Given the description of an element on the screen output the (x, y) to click on. 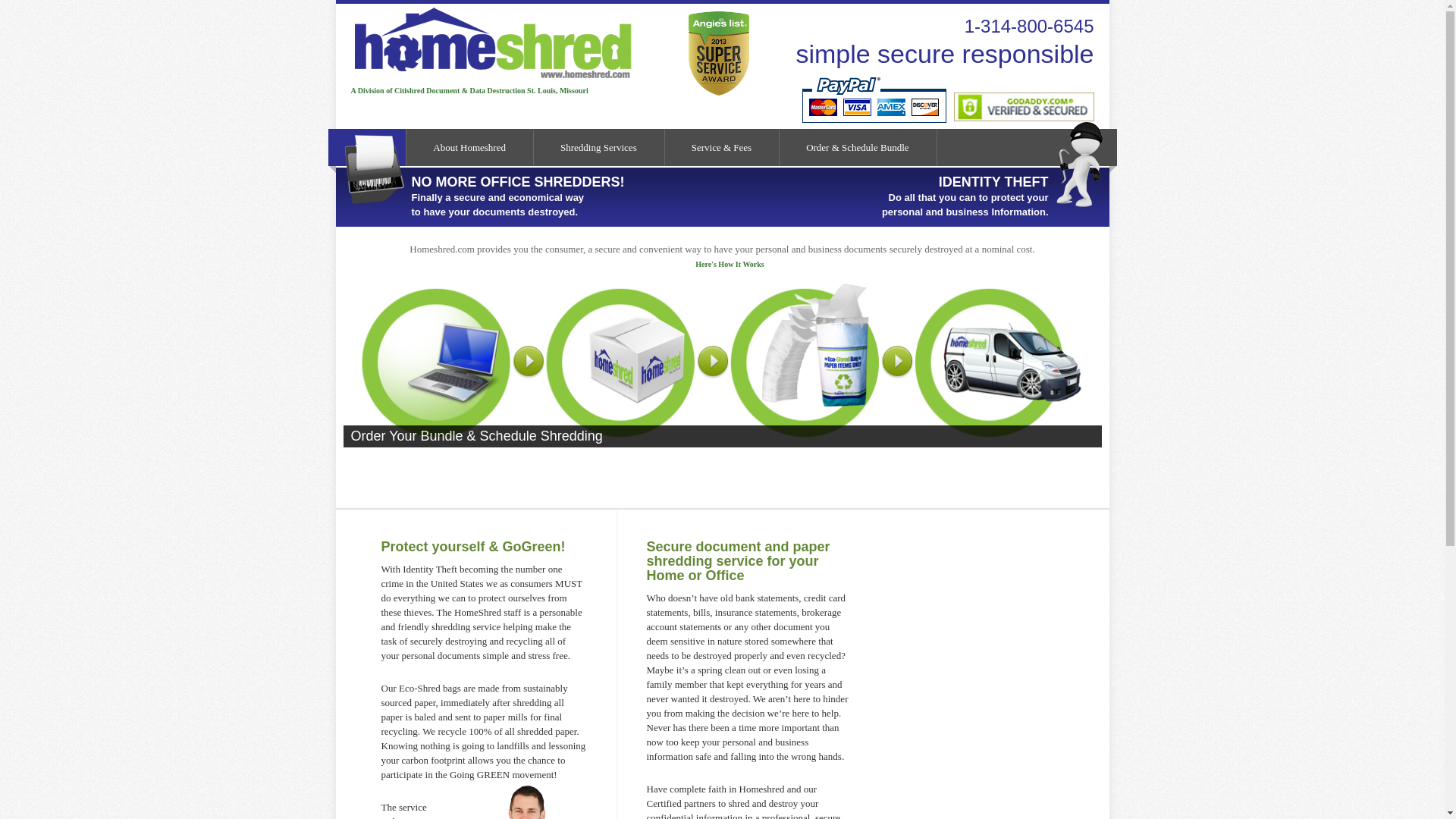
Home (366, 147)
Shredding Services (599, 147)
About Homeshred (470, 147)
HomeShred (484, 78)
